Given the description of an element on the screen output the (x, y) to click on. 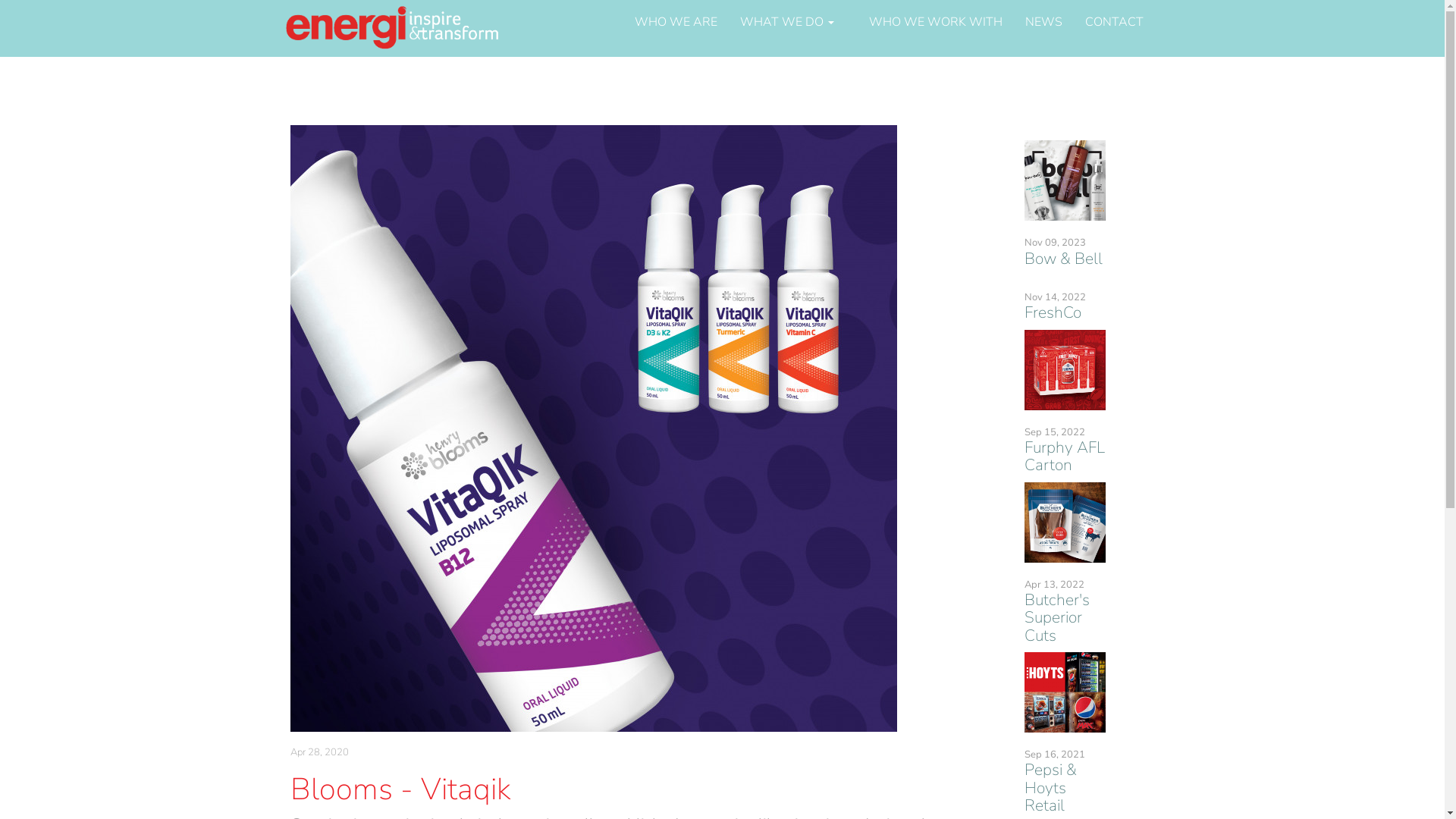
WHO WE WORK WITH Element type: text (934, 21)
Pepsi & Hoyts Retail Element type: text (1050, 787)
CONTACT Element type: text (1113, 21)
NEWS Element type: text (1043, 21)
WHAT WE DO Element type: text (792, 21)
Furphy AFL Carton Element type: text (1064, 455)
Butcher's Superior Cuts Element type: text (1056, 617)
Bow & Bell Element type: text (1063, 258)
FreshCo Element type: text (1052, 312)
Skip to main content Element type: text (0, 0)
Home Element type: hover (398, 28)
WHO WE ARE Element type: text (675, 21)
